Given the description of an element on the screen output the (x, y) to click on. 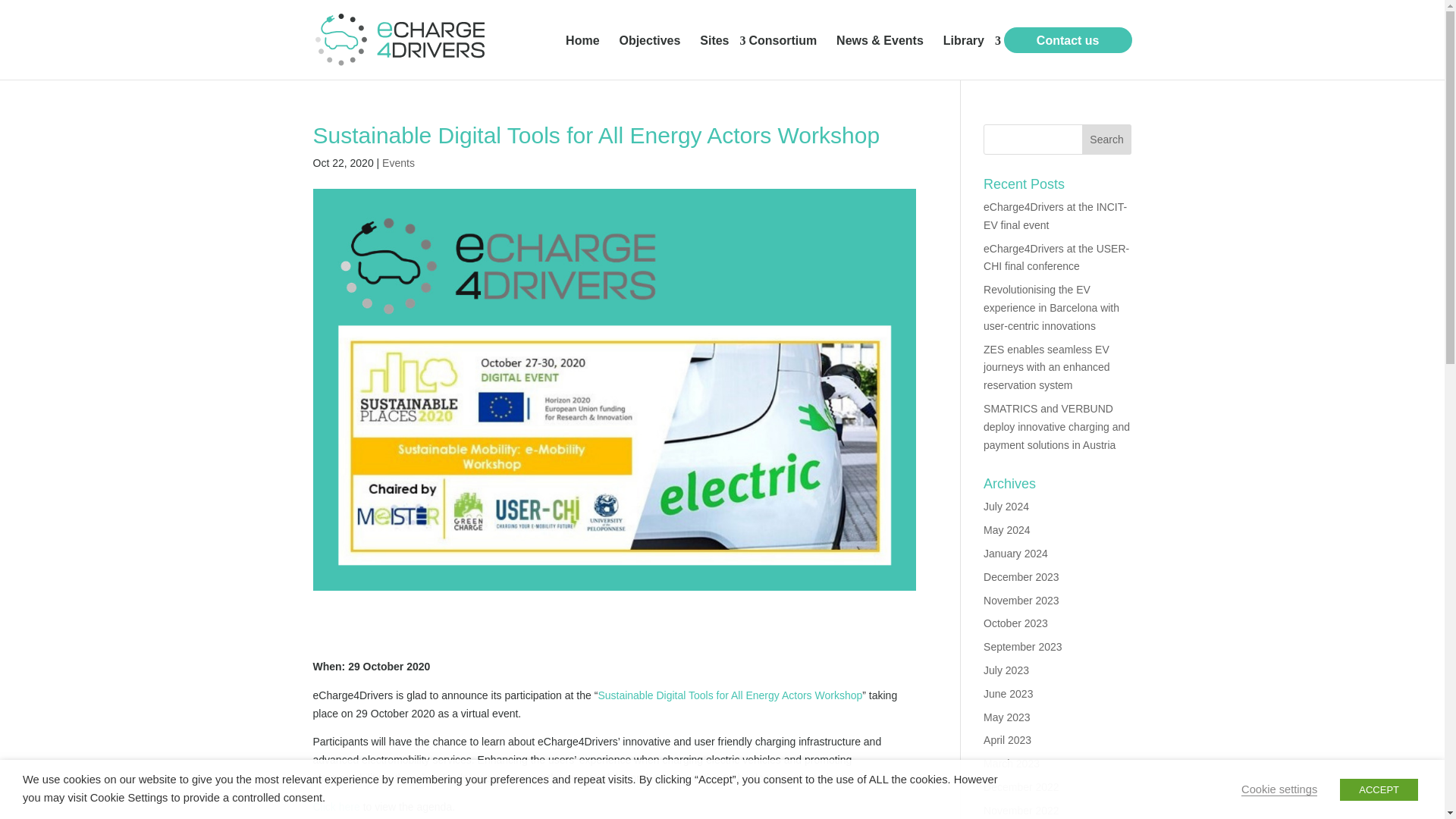
eCharge4Drivers at the USER-CHI final conference (1056, 257)
Search (1106, 139)
Sustainable Digital Tools for All Energy Actors Workshop (728, 695)
July 2024 (1006, 506)
eCharge4Drivers at the INCIT-EV final event (1055, 215)
Search (1106, 139)
Events (397, 162)
May 2024 (1006, 530)
Click here (336, 806)
